Given the description of an element on the screen output the (x, y) to click on. 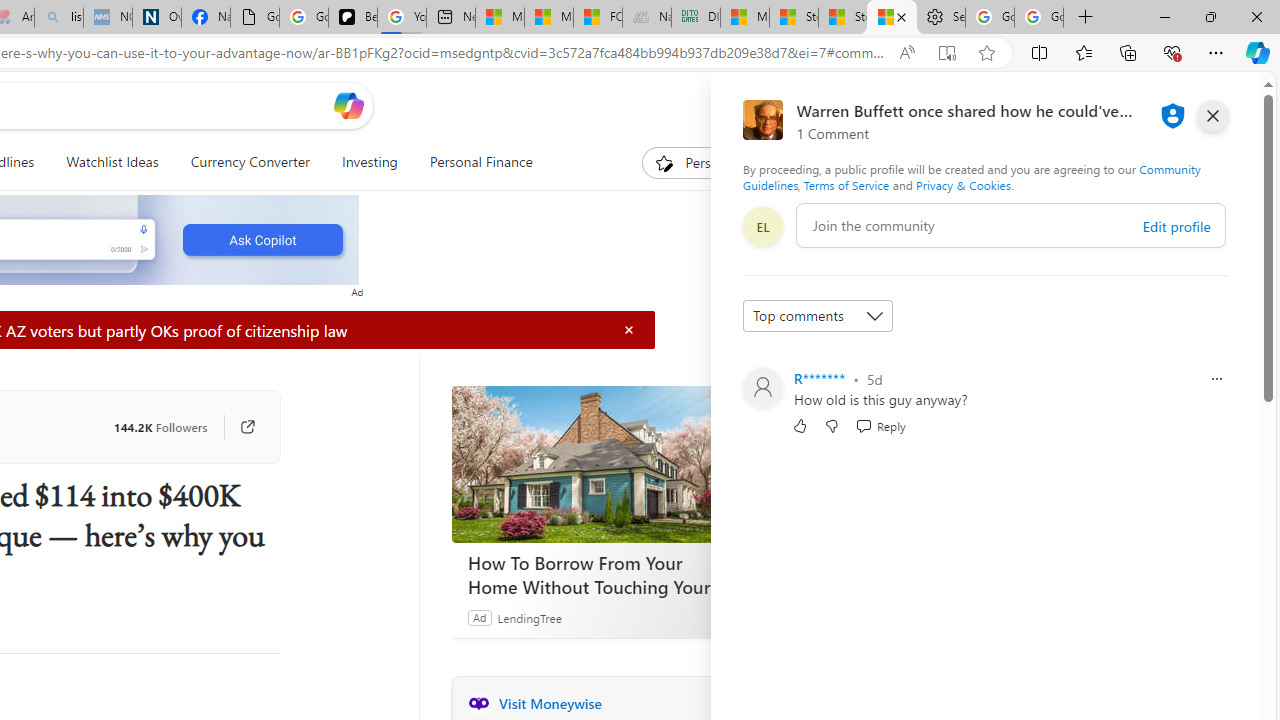
Visit Moneywise website (726, 703)
LendingTree (528, 617)
Stocks - MSN (842, 17)
Personal Finance (480, 162)
Navy Quest (646, 17)
To get missing image descriptions, open the context menu. (664, 162)
Personal Finance (472, 162)
